Given the description of an element on the screen output the (x, y) to click on. 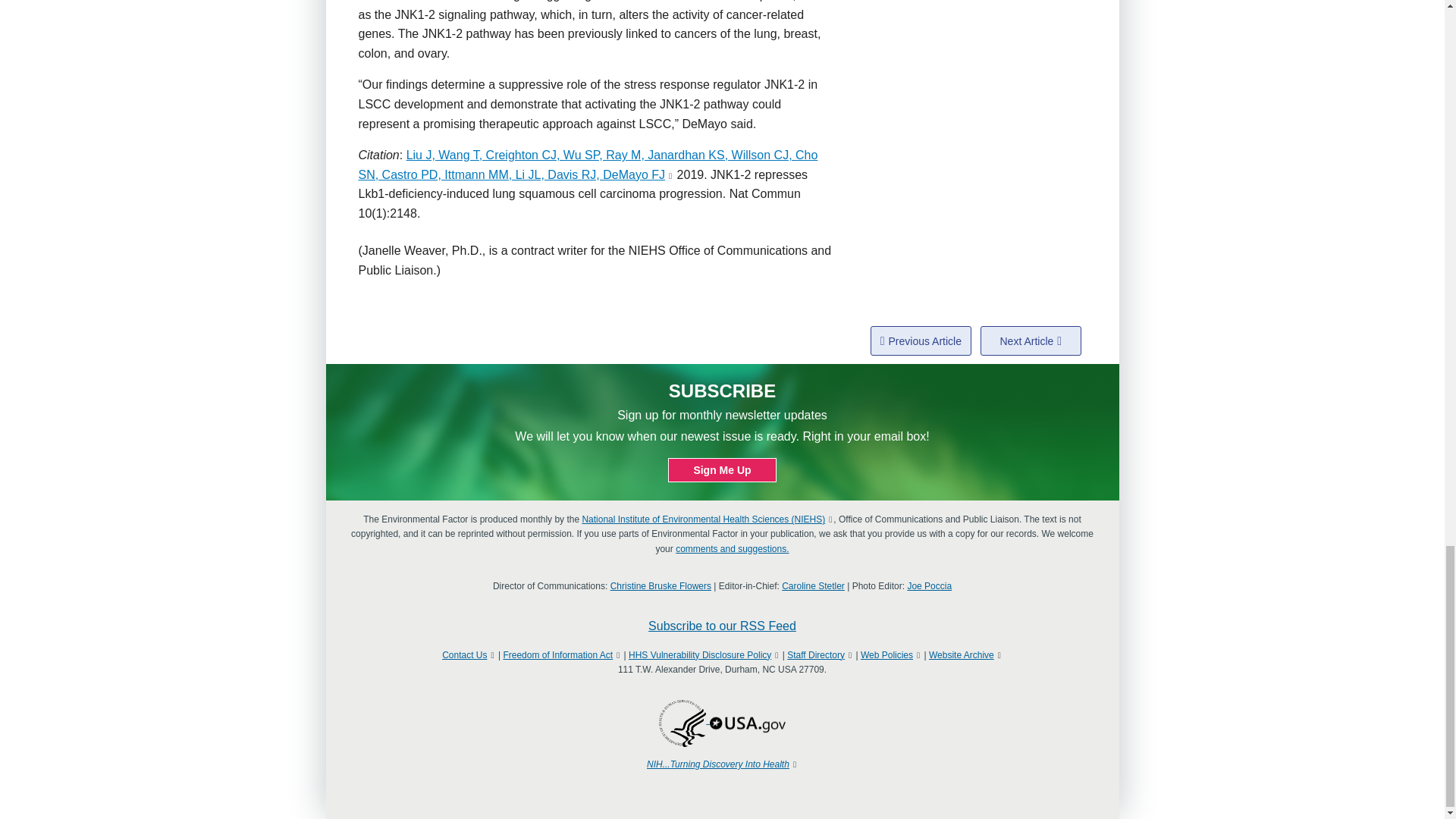
Freedom of Information Act (557, 655)
Previous Article (920, 340)
Contact Us (464, 655)
Staff Directory (815, 655)
comments and suggestions. (732, 548)
Christine Bruske Flowers (660, 585)
HHS Vulnerability Disclosure Policy (699, 655)
Next Article (1030, 340)
Sign Me Up (722, 469)
